Given the description of an element on the screen output the (x, y) to click on. 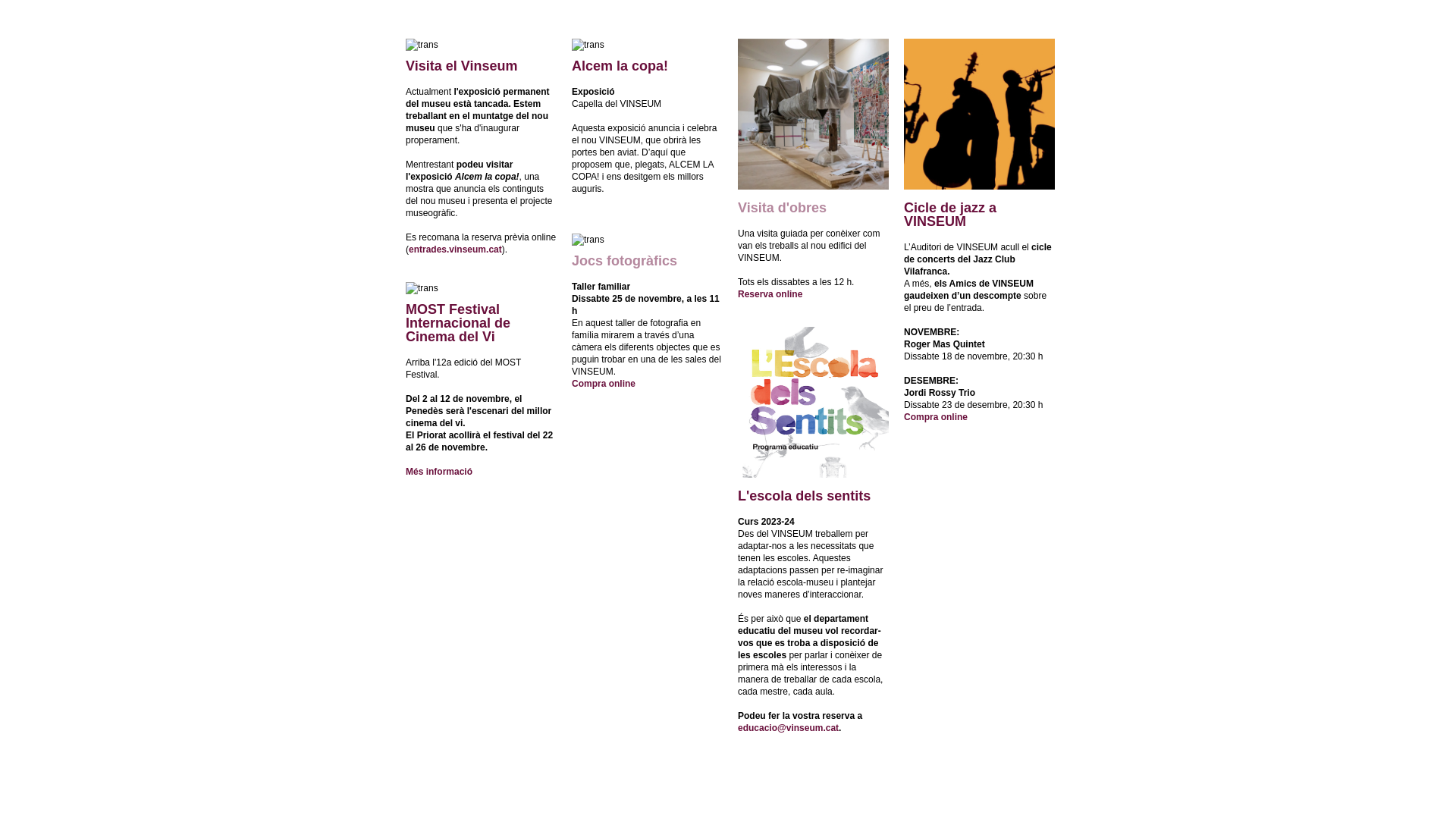
entrades.vinseum.cat Element type: text (455, 249)
Compra online Element type: text (935, 416)
MOST Festival Internacional de Cinema del Vi Element type: text (457, 324)
educacio@vinseum.cat Element type: text (787, 727)
Visita el Vinseum Element type: text (461, 67)
L'escola dels sentits Element type: text (803, 497)
Visita d'obres Element type: text (781, 208)
Cicle de jazz a VINSEUM Element type: text (949, 215)
Alcem la copa! Element type: text (619, 67)
Compra online Element type: text (603, 383)
Reserva online Element type: text (769, 293)
